Given the description of an element on the screen output the (x, y) to click on. 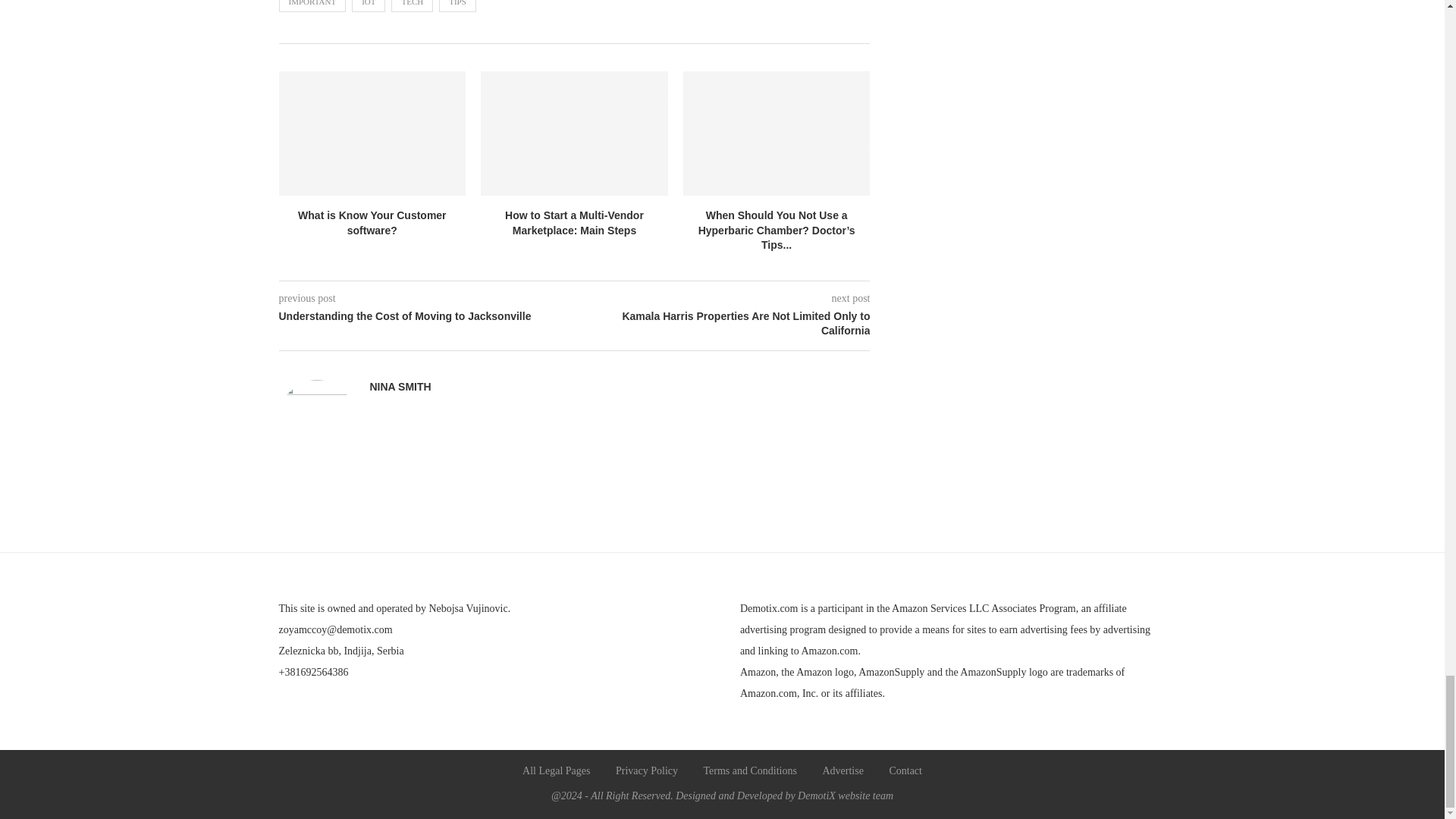
Author Nina Smith (399, 386)
Understanding the Cost of Moving to Jacksonville (427, 316)
TIPS (457, 5)
IMPORTANT (312, 5)
NINA SMITH (399, 386)
How to Start a Multi-Vendor Marketplace: Main Steps (574, 222)
Kamala Harris Properties Are Not Limited Only to California (722, 324)
TECH (411, 5)
IOT (368, 5)
What is Know Your Customer software? (372, 133)
What is Know Your Customer software? (372, 222)
How to Start a Multi-Vendor Marketplace: Main Steps (574, 133)
